Given the description of an element on the screen output the (x, y) to click on. 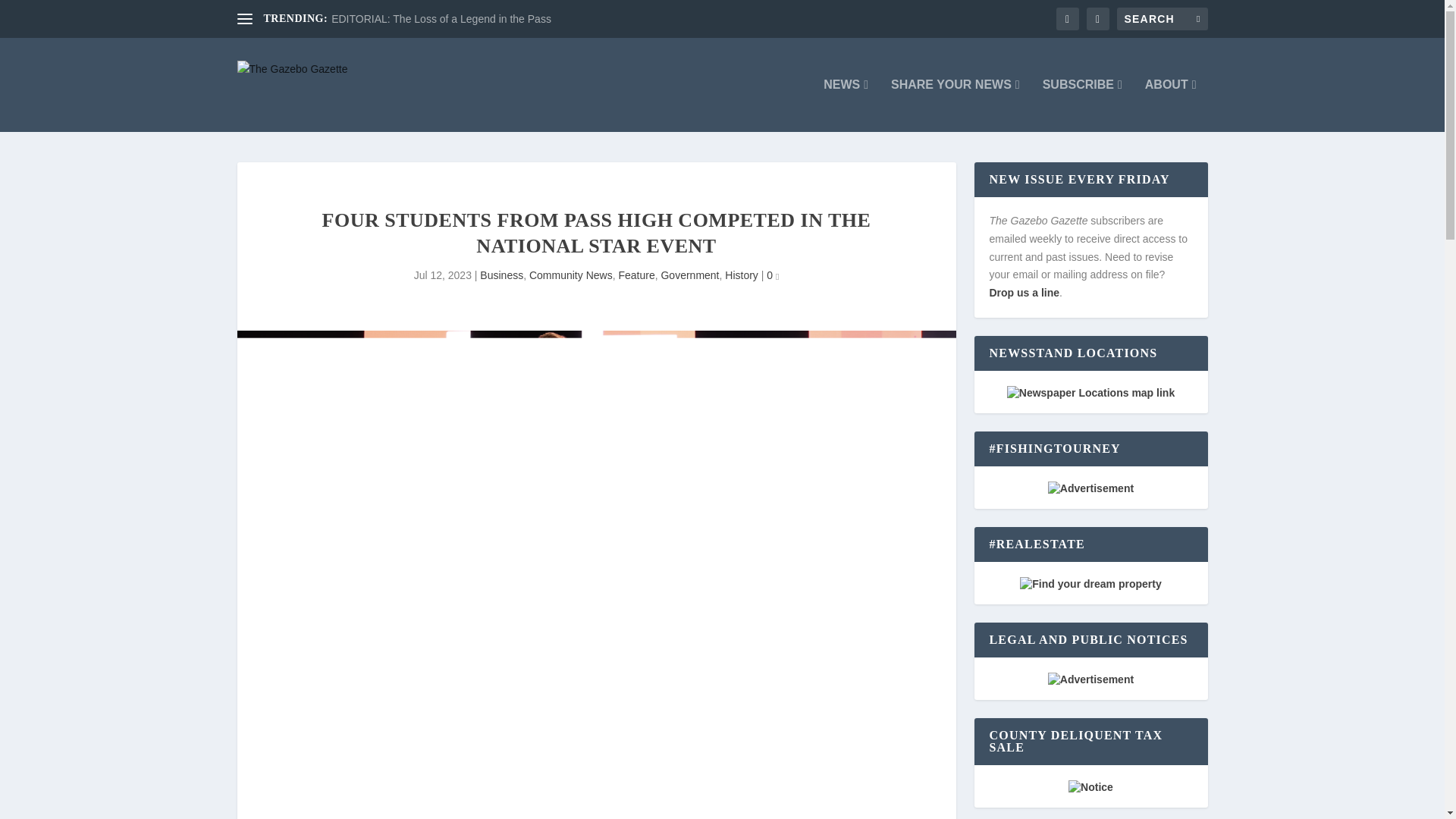
EDITORIAL: The Loss of a Legend in the Pass (441, 19)
SHARE YOUR NEWS (955, 104)
Search for: (1161, 18)
